Given the description of an element on the screen output the (x, y) to click on. 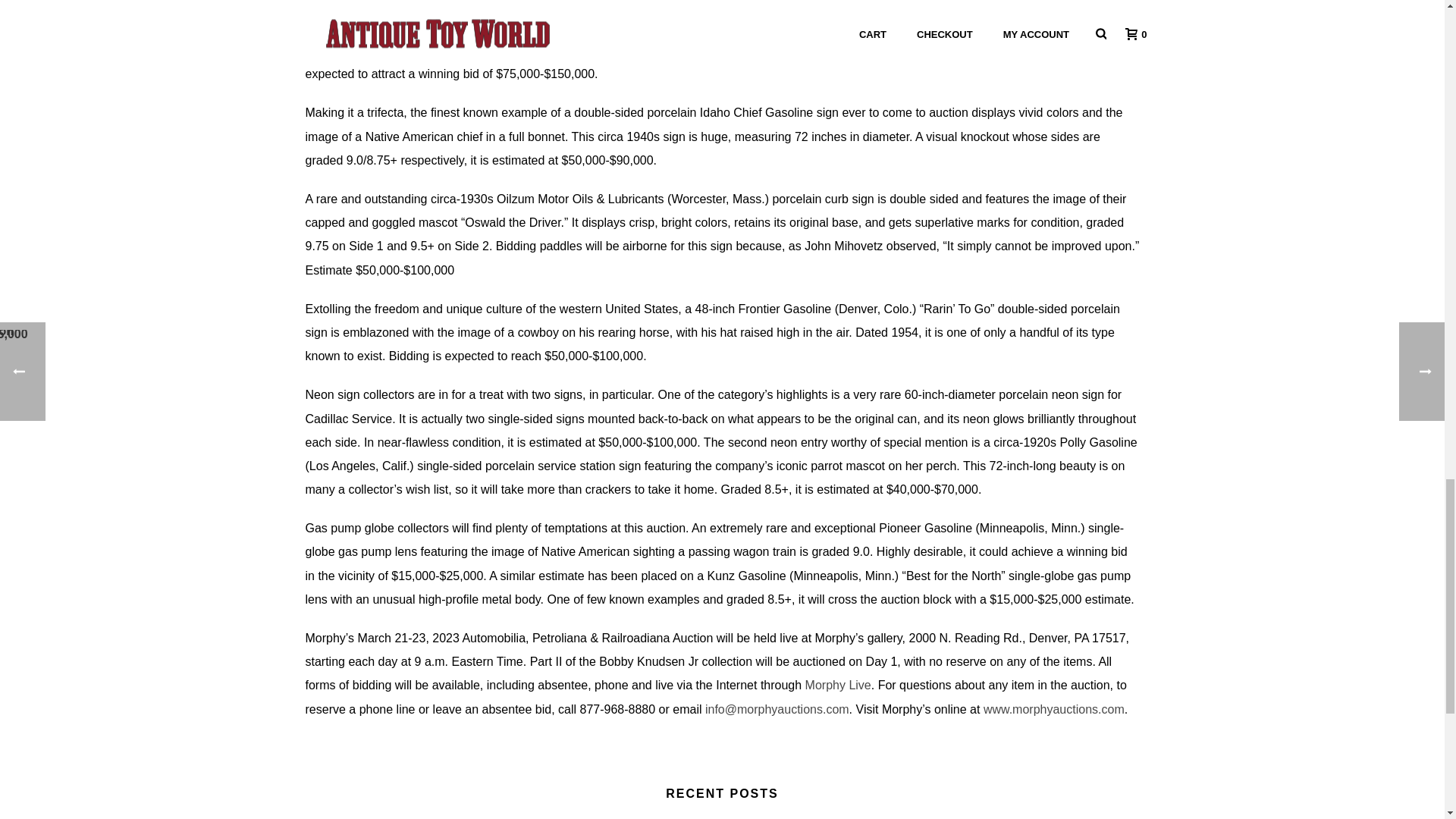
My account (61, 14)
Checkout (55, 3)
My account (61, 14)
Checkout (55, 3)
